Given the description of an element on the screen output the (x, y) to click on. 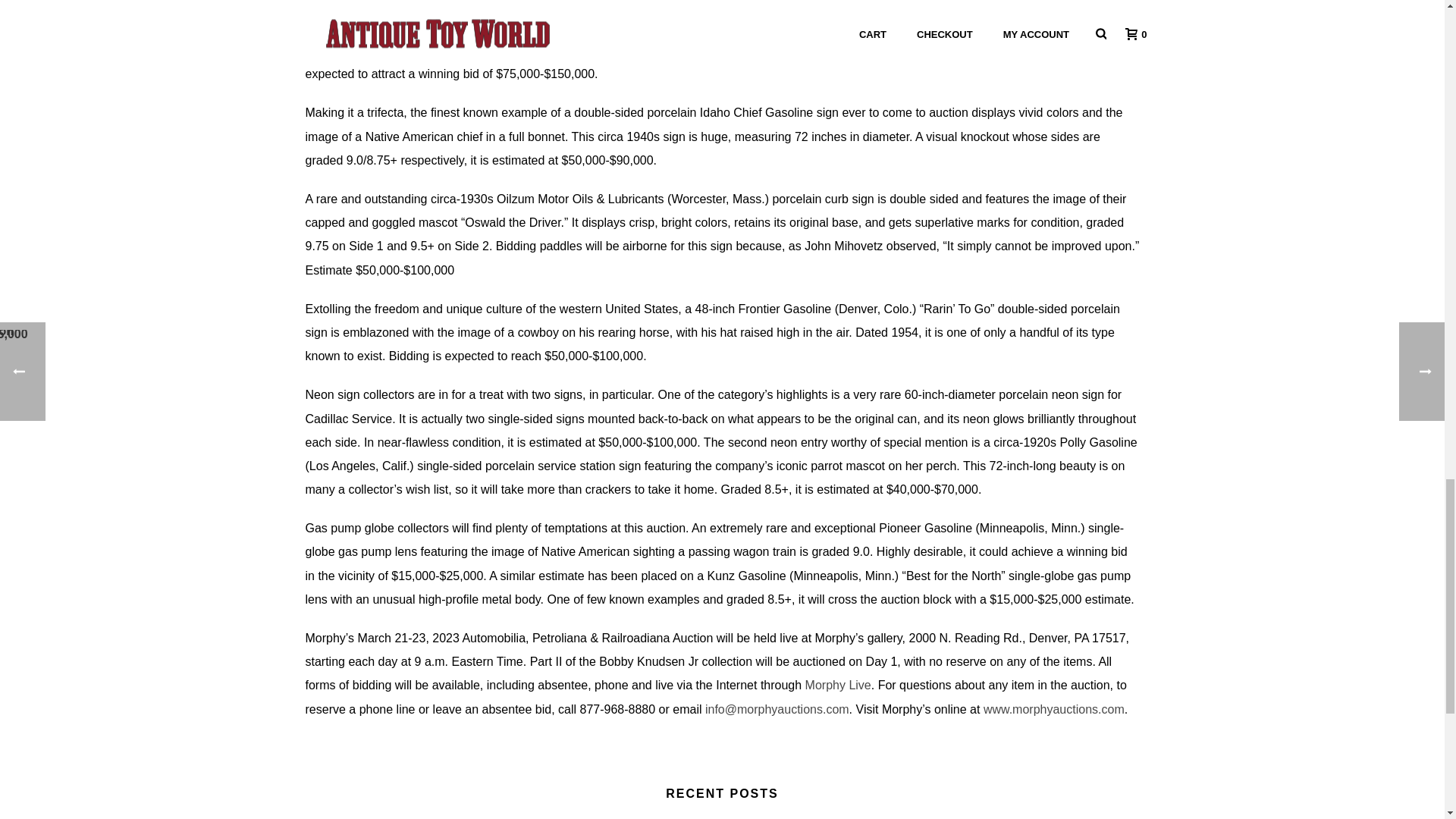
My account (61, 14)
Checkout (55, 3)
My account (61, 14)
Checkout (55, 3)
